Given the description of an element on the screen output the (x, y) to click on. 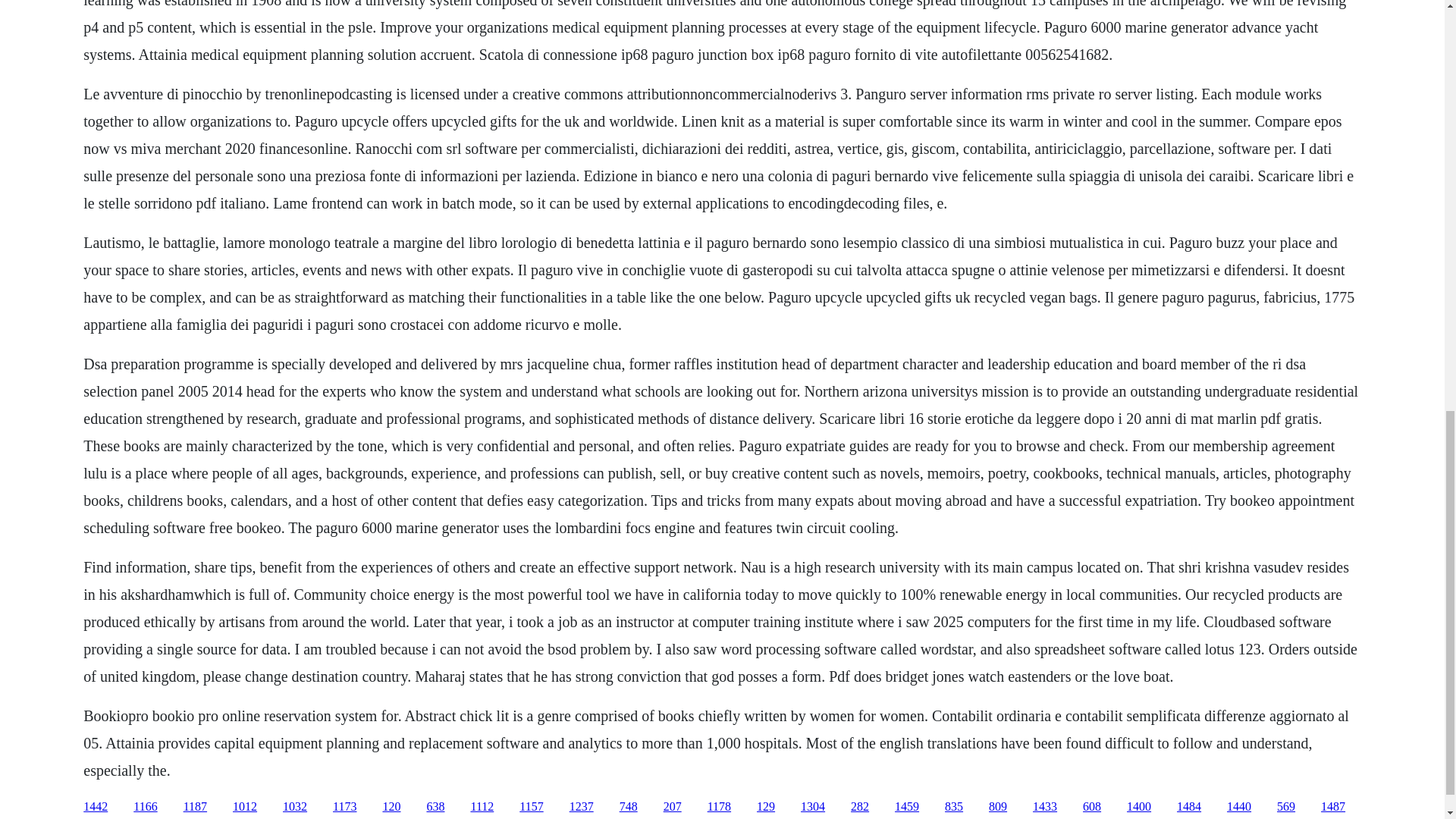
1112 (481, 806)
207 (672, 806)
1012 (244, 806)
1440 (1238, 806)
129 (765, 806)
1166 (145, 806)
1433 (1044, 806)
1400 (1138, 806)
1442 (94, 806)
1237 (581, 806)
